Given the description of an element on the screen output the (x, y) to click on. 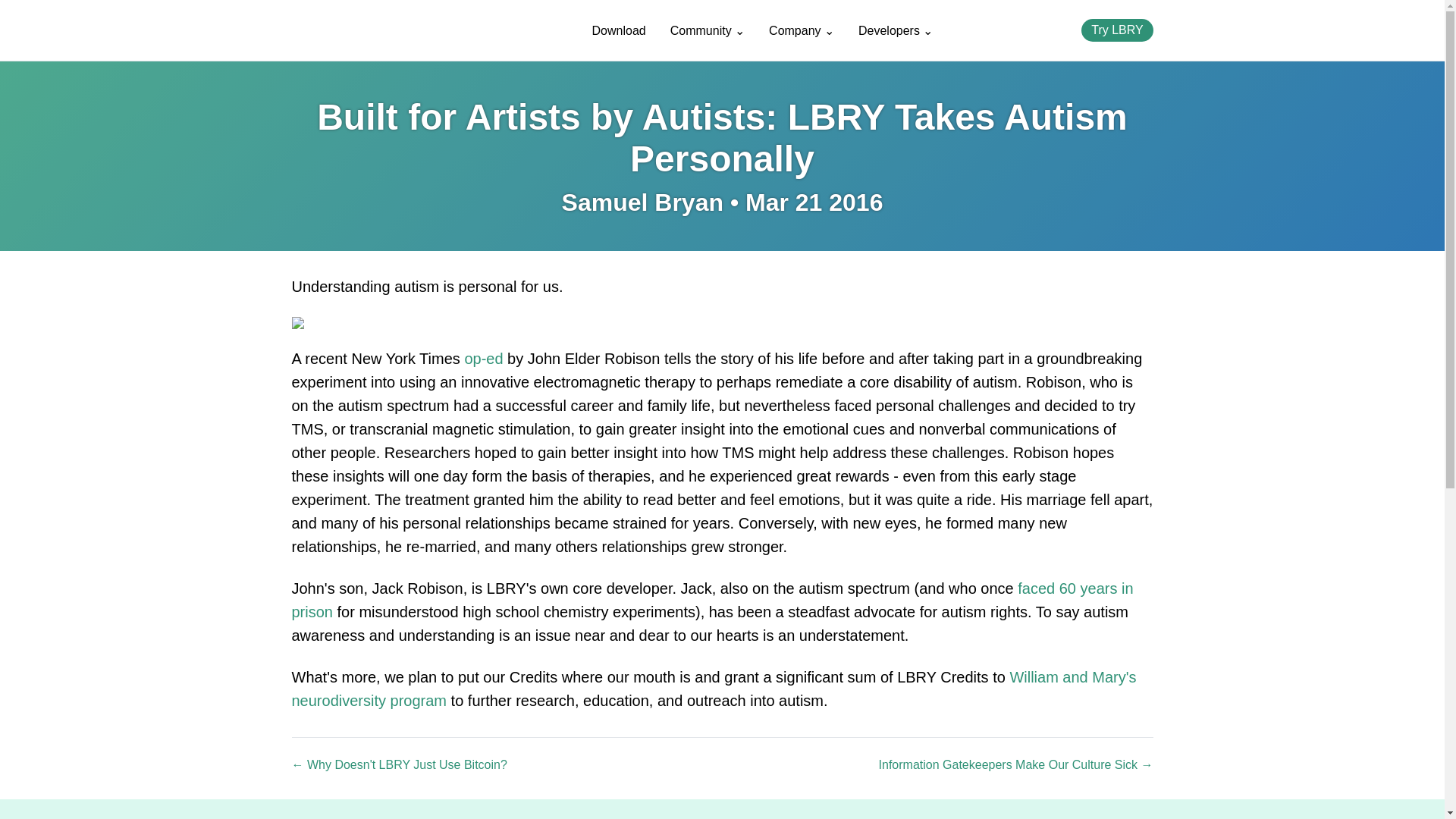
Download (619, 30)
Try LBRY (1117, 30)
March 21st, 2016 (813, 201)
Search (1056, 30)
Read 'Why Doesn't LBRY Just Use Bitcoin?' (398, 764)
Read 'Information Gatekeepers Make Our Culture Sick' (1016, 764)
William and Mary's neurodiversity program (713, 689)
LBRY (369, 30)
faced 60 years in prison (711, 599)
op-ed (483, 358)
